Given the description of an element on the screen output the (x, y) to click on. 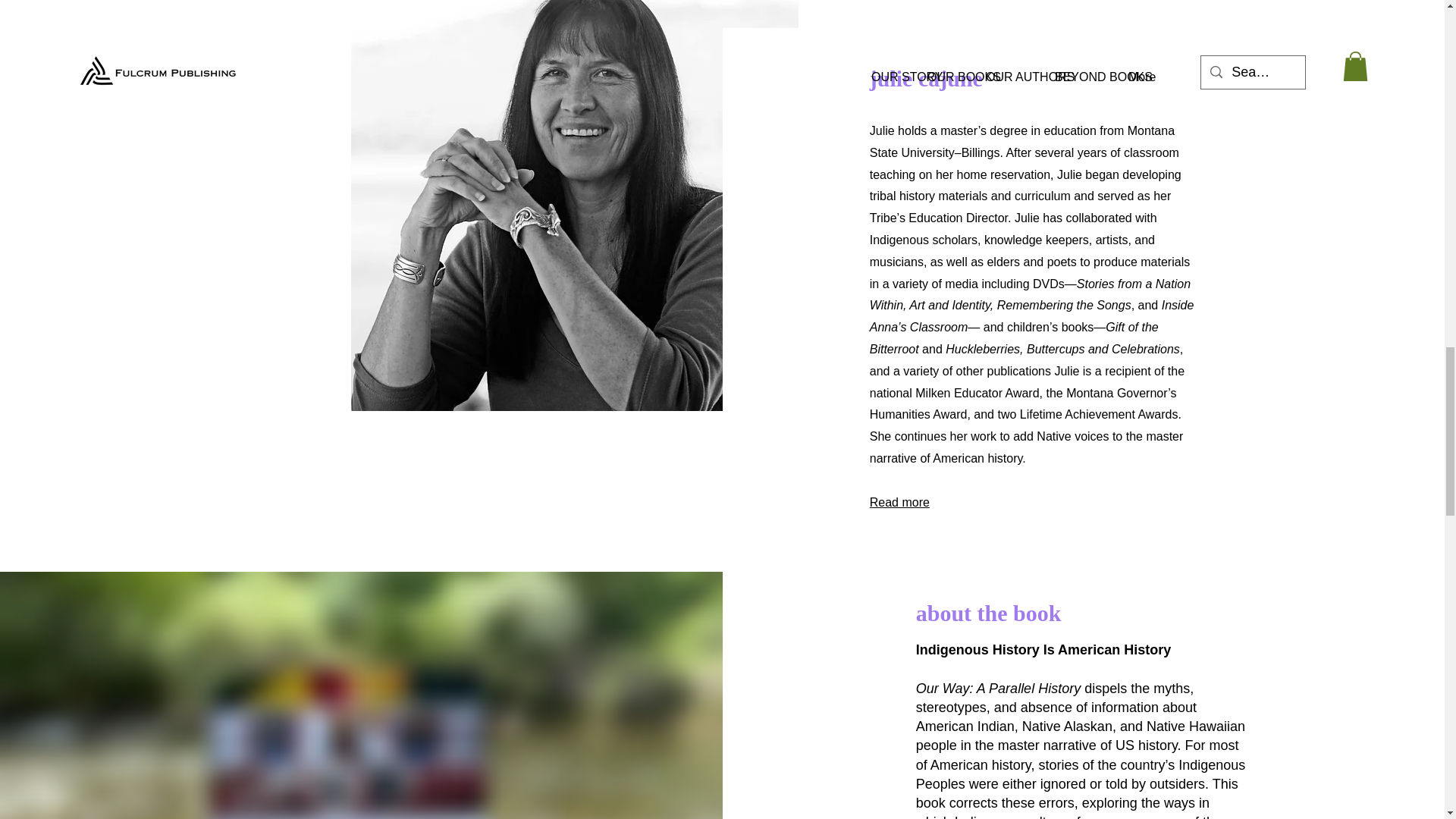
Read more (899, 502)
